Given the description of an element on the screen output the (x, y) to click on. 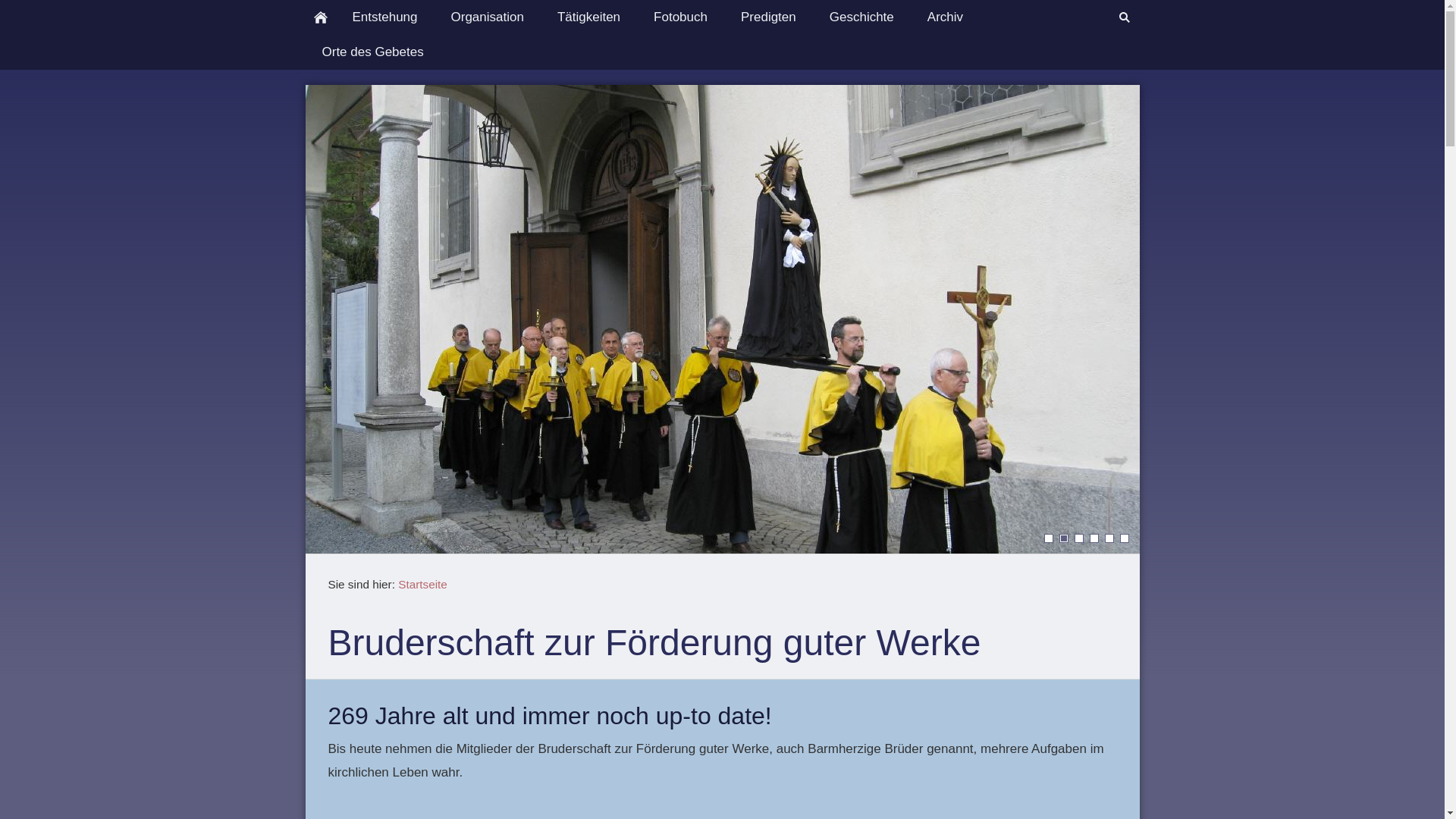
Predigten Element type: text (768, 17)
Orte des Gebetes Element type: text (371, 51)
Archiv Element type: text (944, 17)
Fotobuch Element type: text (680, 17)
Entstehung Element type: text (384, 17)
Startseite Element type: text (422, 583)
Organisation Element type: text (487, 17)
Geschichte Element type: text (861, 17)
